Given the description of an element on the screen output the (x, y) to click on. 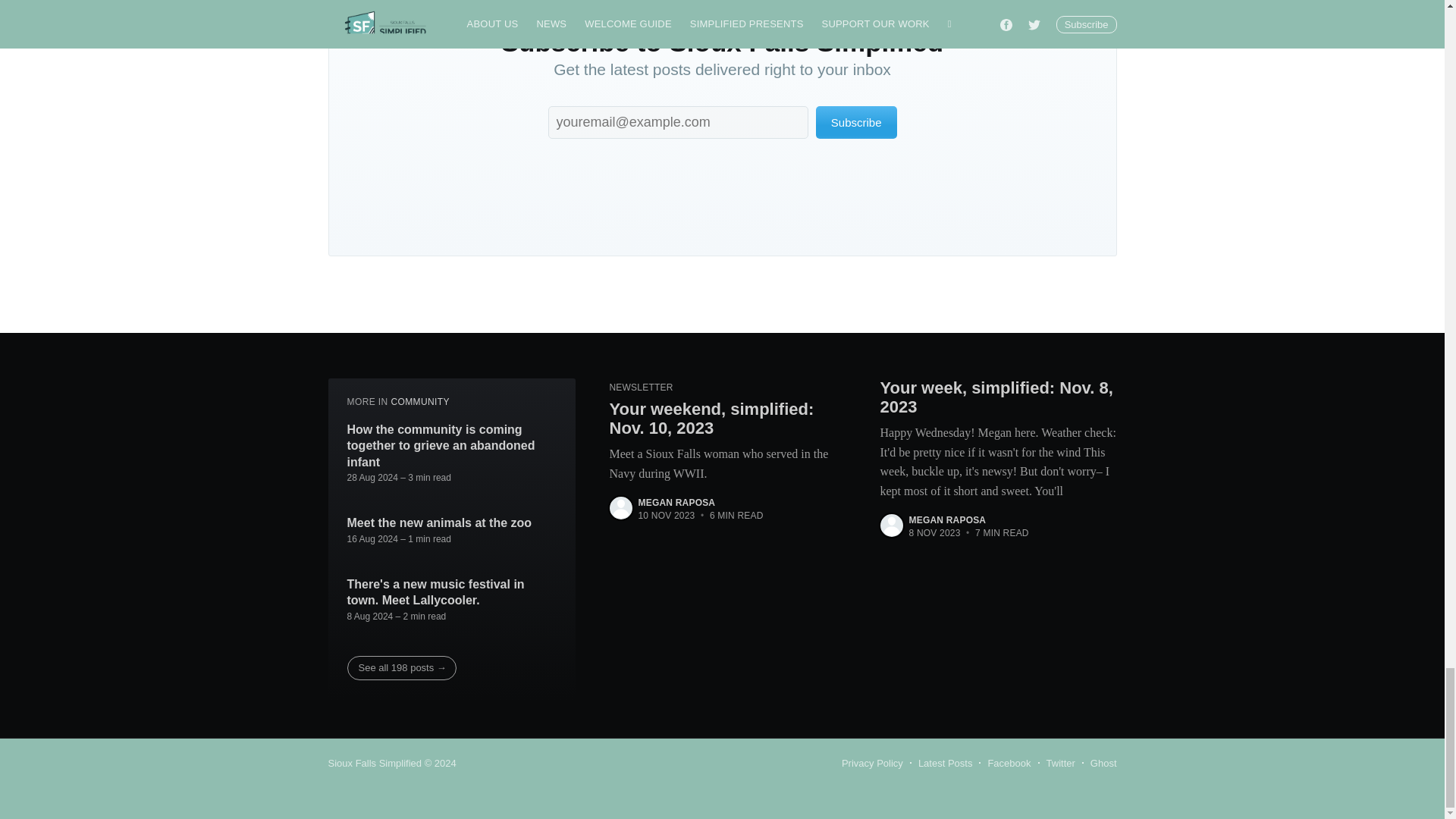
MEGAN RAPOSA (677, 502)
Facebook (1008, 763)
Twitter (1060, 763)
Meet the new animals at the zoo (439, 523)
Ghost (1103, 763)
There's a new music festival in town. Meet Lallycooler. (451, 592)
Latest Posts (945, 763)
Privacy Policy (871, 763)
